Given the description of an element on the screen output the (x, y) to click on. 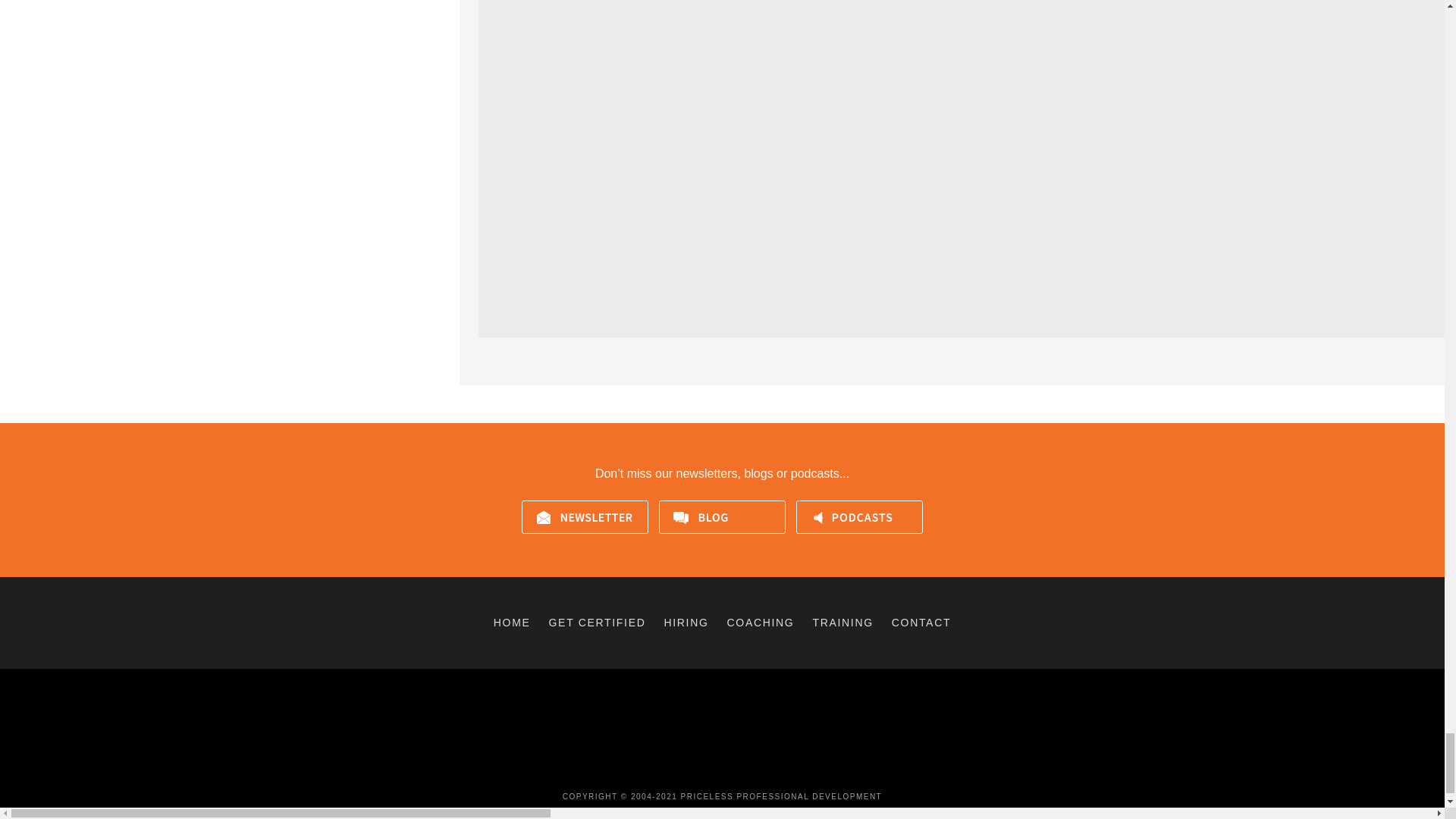
Priceless Professional on LinkedIn (733, 769)
Priceless Professional on Twitter (711, 769)
Priceless Professional on Facebook (689, 769)
Priceless Professional RSS Feed (755, 769)
